Given the description of an element on the screen output the (x, y) to click on. 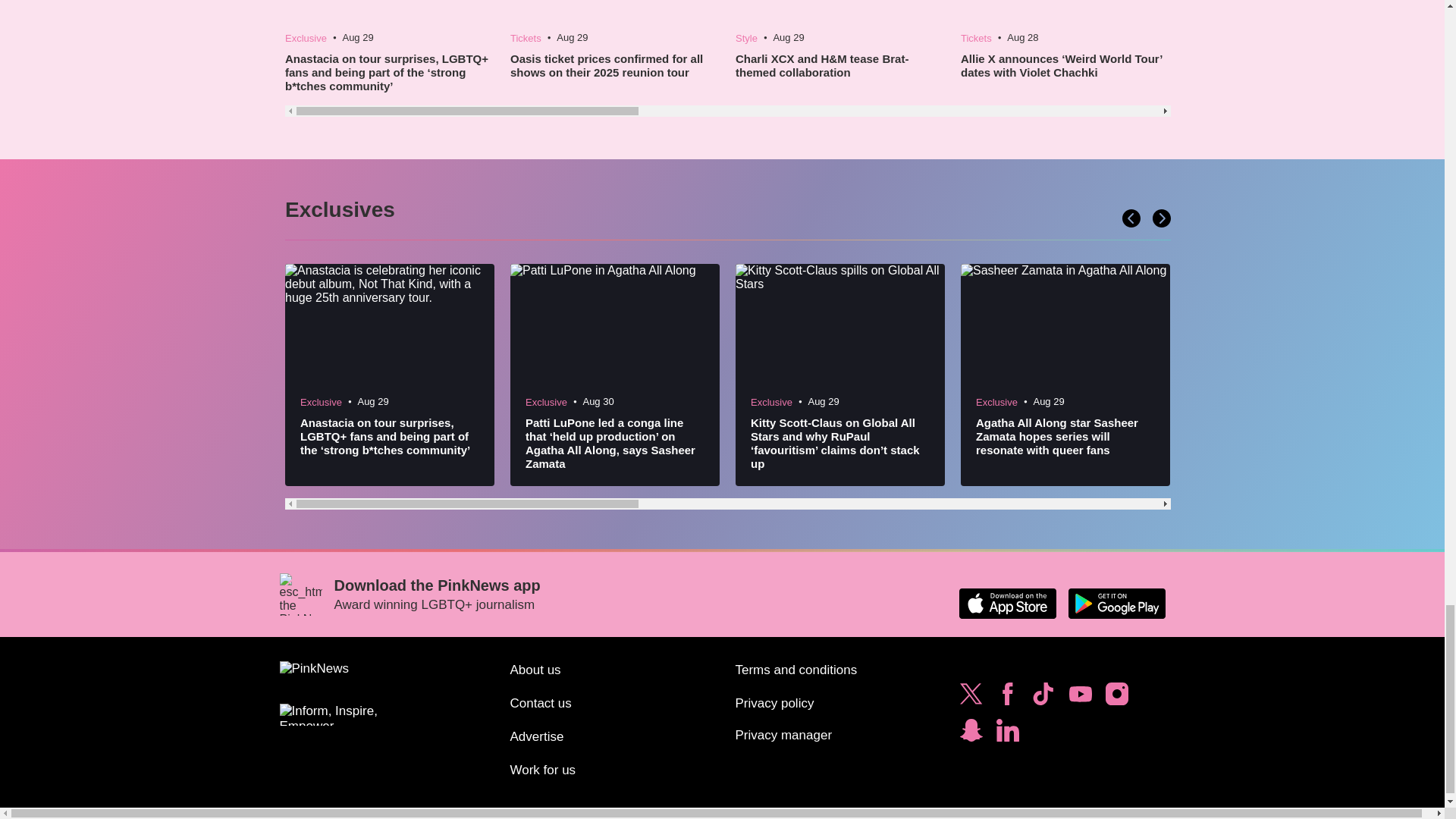
Follow PinkNews on TikTok (1042, 697)
Subscribe to PinkNews on YouTube (1079, 697)
Download the PinkNews app on Google Play (1115, 603)
Follow PinkNews on Twitter (970, 697)
Download the PinkNews app on the Apple App Store (1006, 603)
Subscribe to PinkNews on Snapchat (970, 733)
Follow PinkNews on LinkedIn (1007, 733)
Follow PinkNews on Instagram (1116, 697)
